Given the description of an element on the screen output the (x, y) to click on. 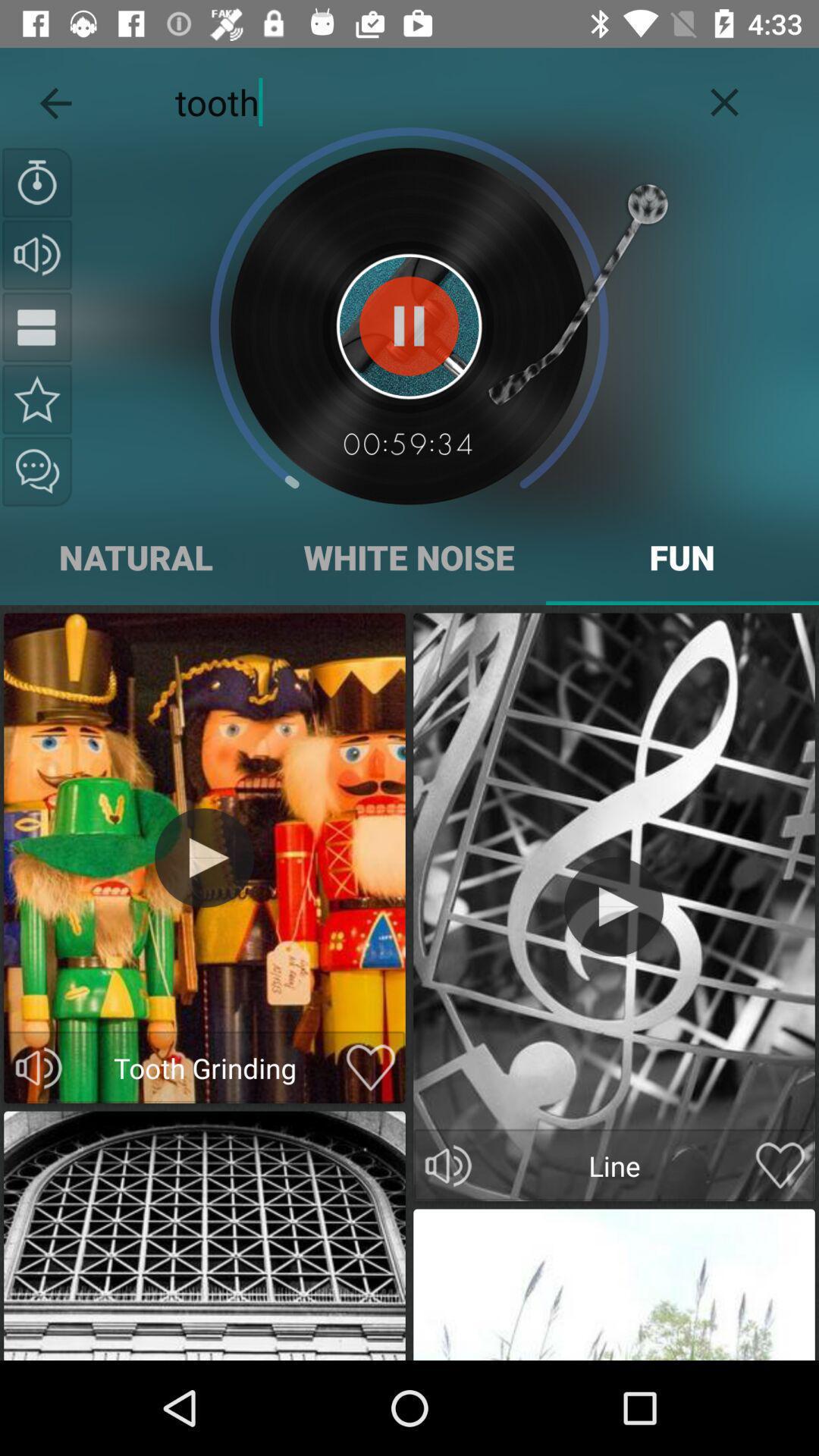
change volume (38, 1068)
